Given the description of an element on the screen output the (x, y) to click on. 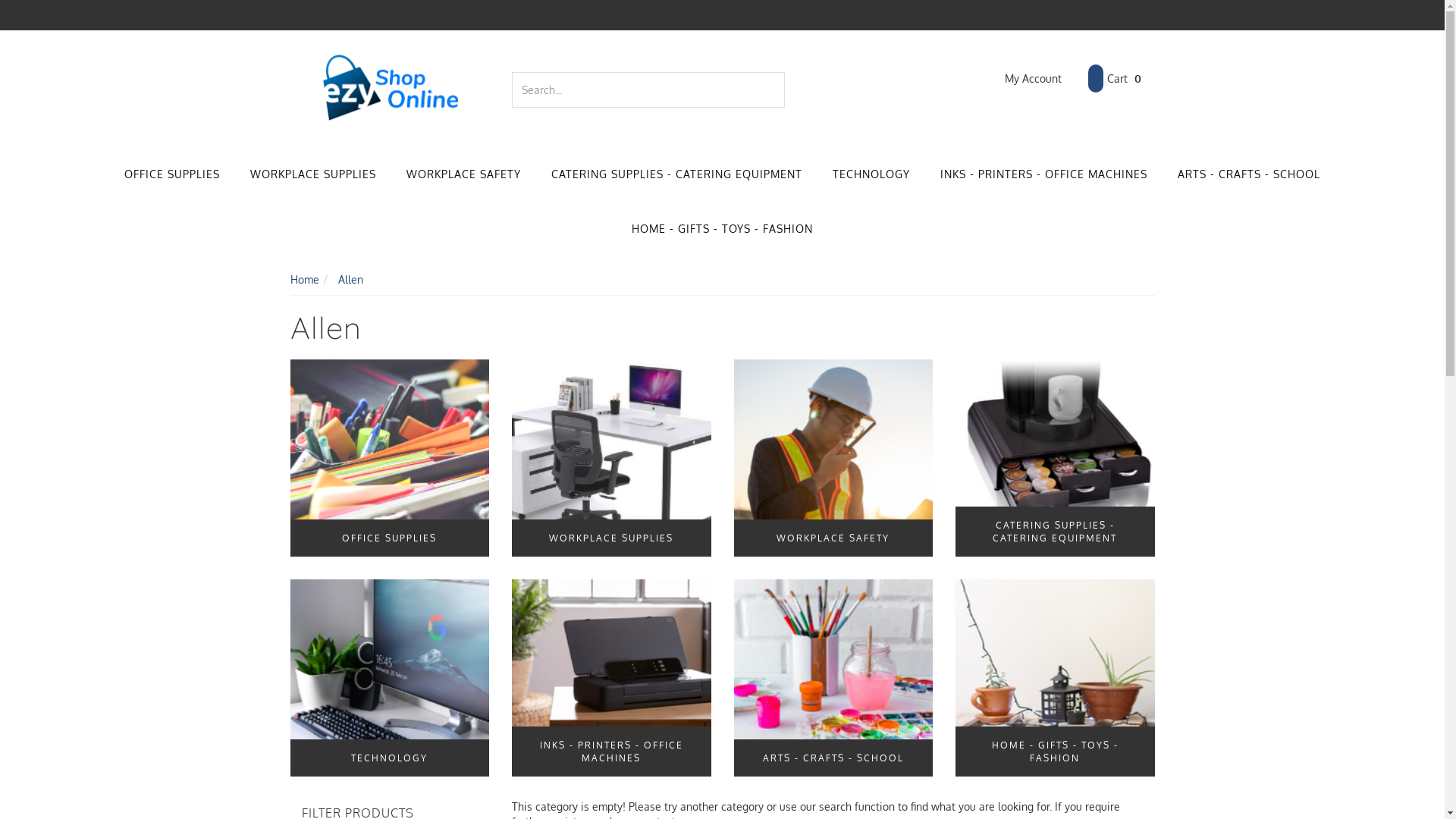
WORKPLACE SAFETY Element type: text (463, 174)
WORKPLACE SUPPLIES Element type: text (611, 457)
HOME - GIFTS - TOYS - FASHION Element type: text (722, 229)
ARTS - CRAFTS - SCHOOL Element type: text (833, 677)
INKS - PRINTERS - OFFICE MACHINES Element type: text (1043, 174)
Allen Element type: text (350, 279)
WORKPLACE SUPPLIES Element type: text (313, 174)
Ezy Shop Online Element type: hover (389, 87)
Cart 0 Element type: text (1113, 78)
TECHNOLOGY Element type: text (389, 677)
ARTS - CRAFTS - SCHOOL Element type: text (1248, 174)
WORKPLACE SAFETY Element type: text (833, 457)
OFFICE SUPPLIES Element type: text (389, 457)
Search Element type: text (774, 89)
CATERING SUPPLIES - CATERING EQUIPMENT Element type: text (1054, 457)
TECHNOLOGY Element type: text (871, 174)
INKS - PRINTERS - OFFICE MACHINES Element type: text (611, 677)
Home Element type: text (303, 279)
OFFICE SUPPLIES Element type: text (172, 174)
CATERING SUPPLIES - CATERING EQUIPMENT Element type: text (676, 174)
My Account Element type: text (1021, 78)
HOME - GIFTS - TOYS - FASHION Element type: text (1054, 677)
